Given the description of an element on the screen output the (x, y) to click on. 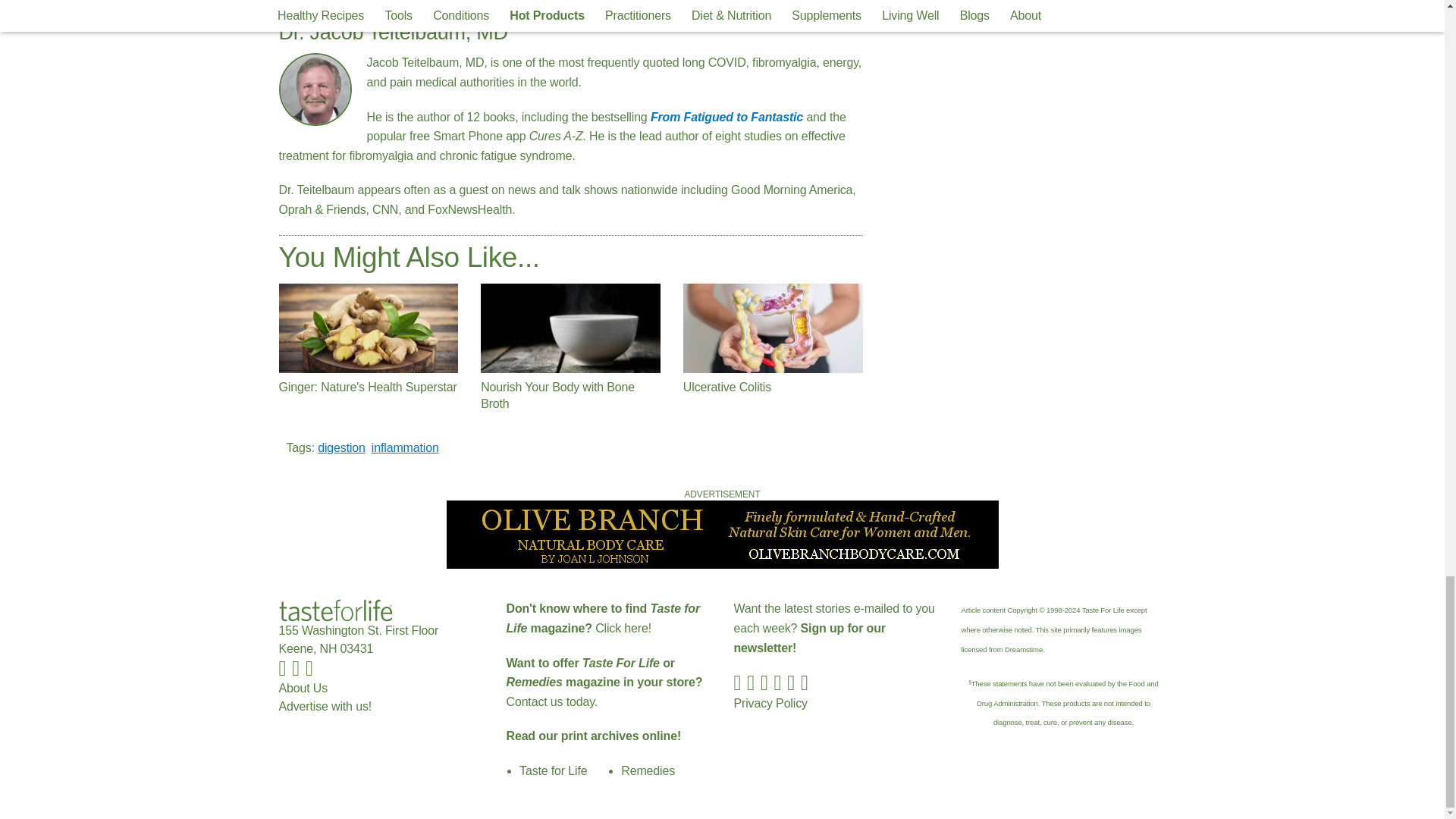
Ulcerative Colitis (772, 328)
Taste for Life (336, 609)
Nourish Your Body with Bone Broth (570, 328)
